Given the description of an element on the screen output the (x, y) to click on. 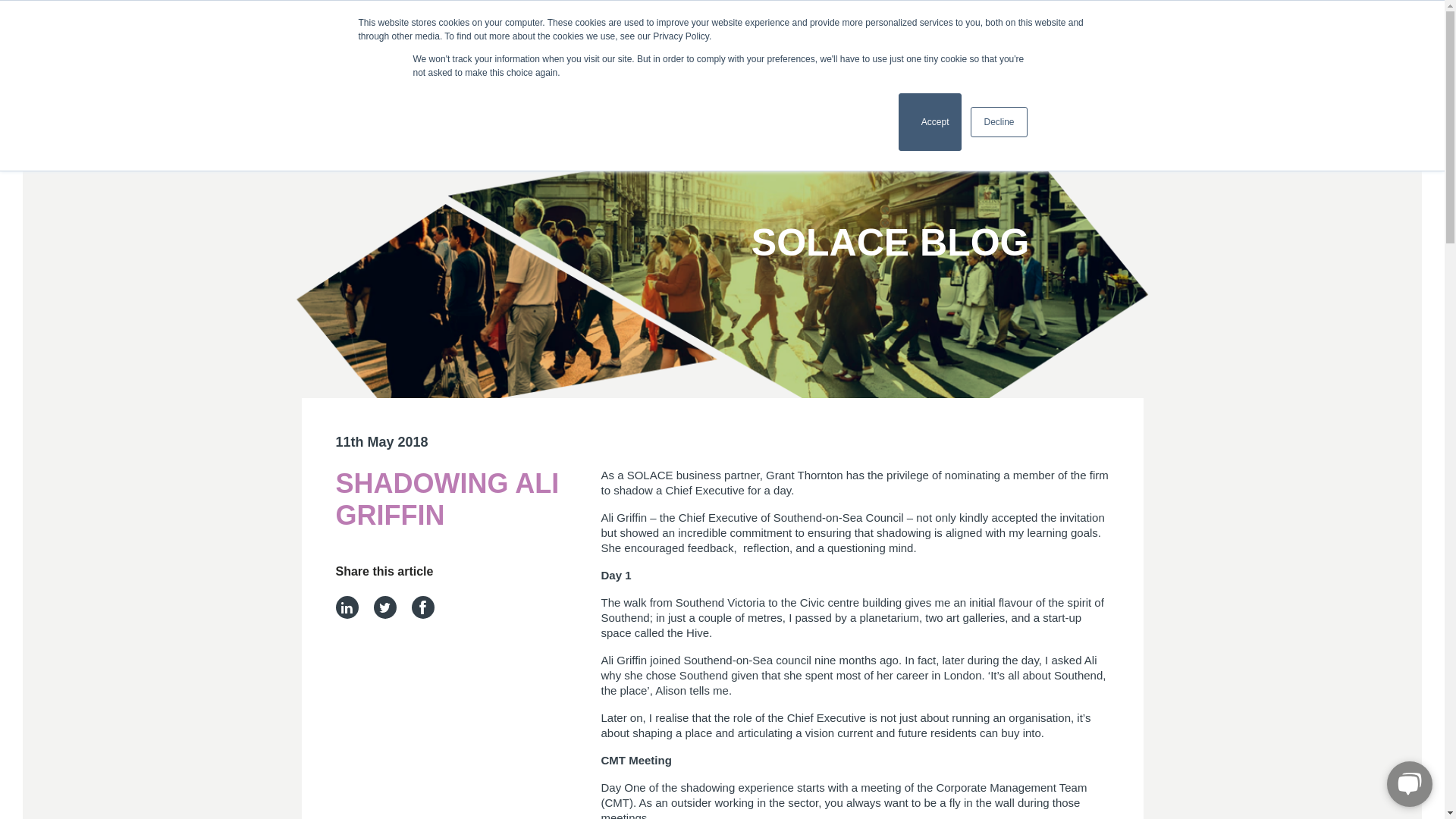
Policy (1117, 46)
Events (813, 46)
Partnerships (1041, 46)
About (663, 46)
Consultancy (1192, 46)
50 Years (601, 46)
Events (813, 46)
50 Years (601, 46)
About (929, 121)
Membership (663, 46)
Learning Hub (737, 46)
Share on Linkedin (893, 46)
Learning Hub (346, 607)
Recruitment (893, 46)
